Given the description of an element on the screen output the (x, y) to click on. 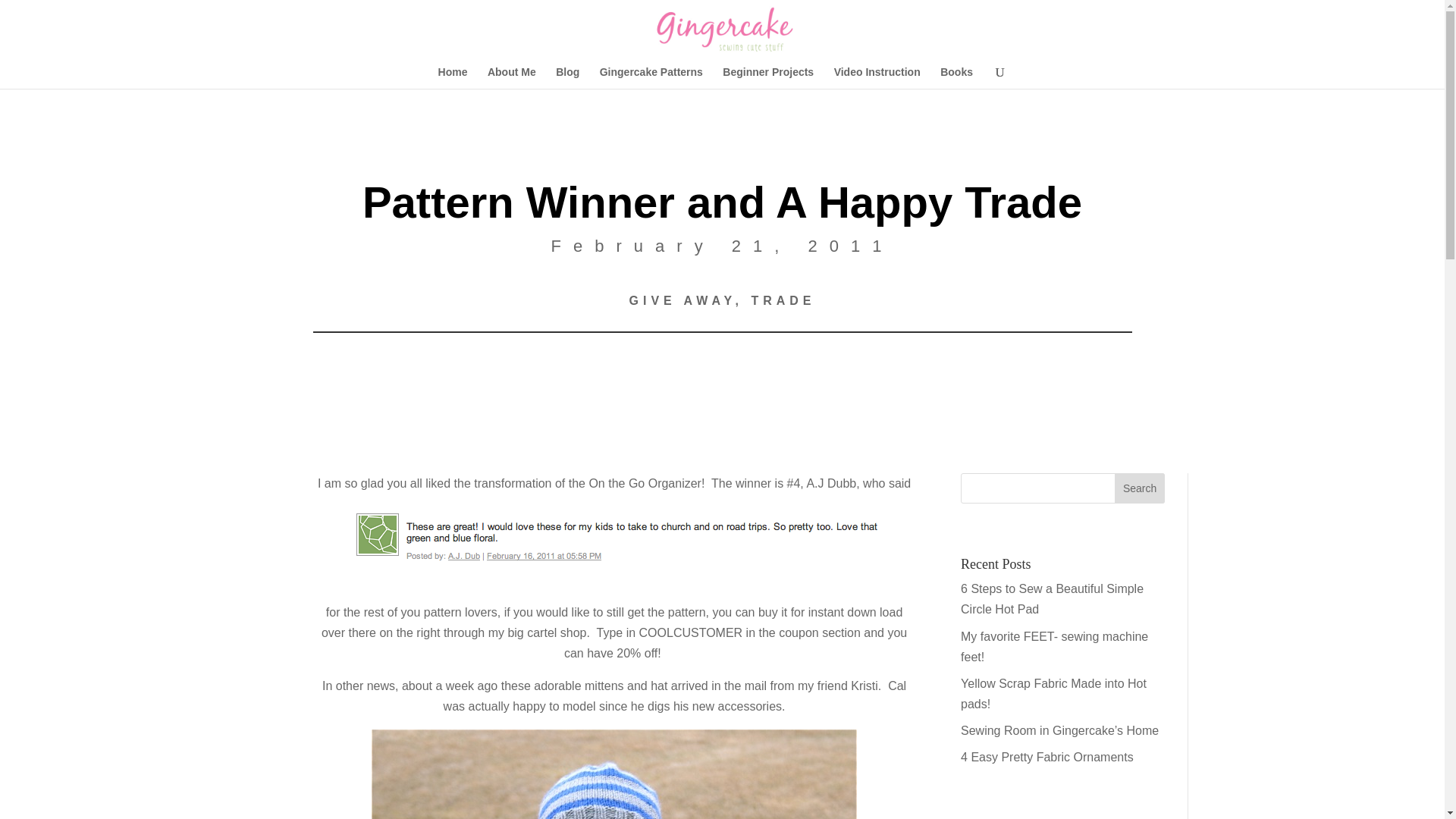
Search (1139, 488)
Books (956, 77)
Home (452, 77)
Screen shot 2011-02-21 at 3.26.36 PM (614, 544)
About Me (511, 77)
Yellow Scrap Fabric Made into Hot pads! (1053, 693)
Gingercake Patterns (651, 77)
6 Steps to Sew a Beautiful Simple Circle Hot Pad (1051, 598)
Video Instruction (877, 77)
Beginner Projects (767, 77)
